Given the description of an element on the screen output the (x, y) to click on. 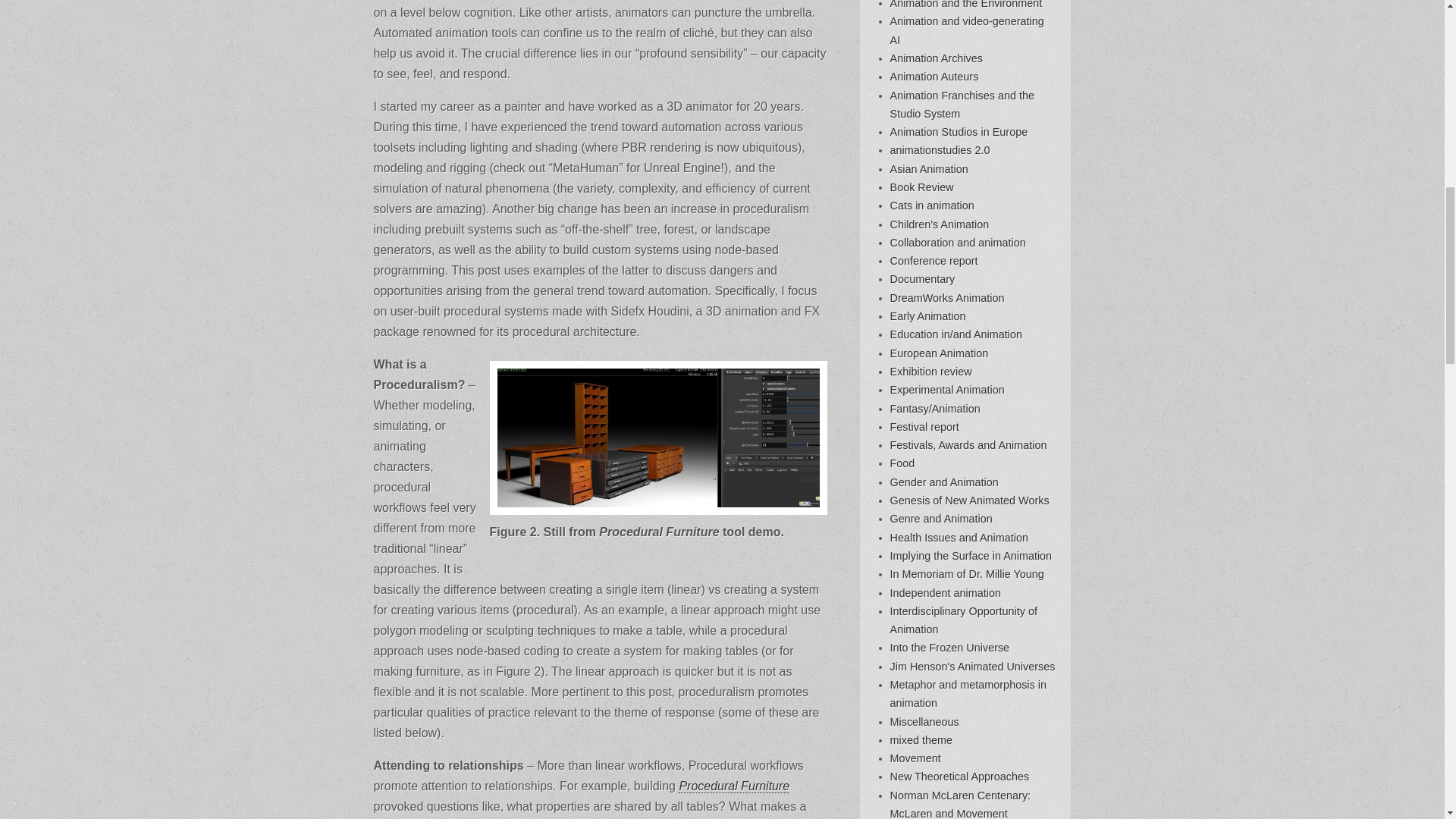
Procedural Furniture (733, 786)
